Given the description of an element on the screen output the (x, y) to click on. 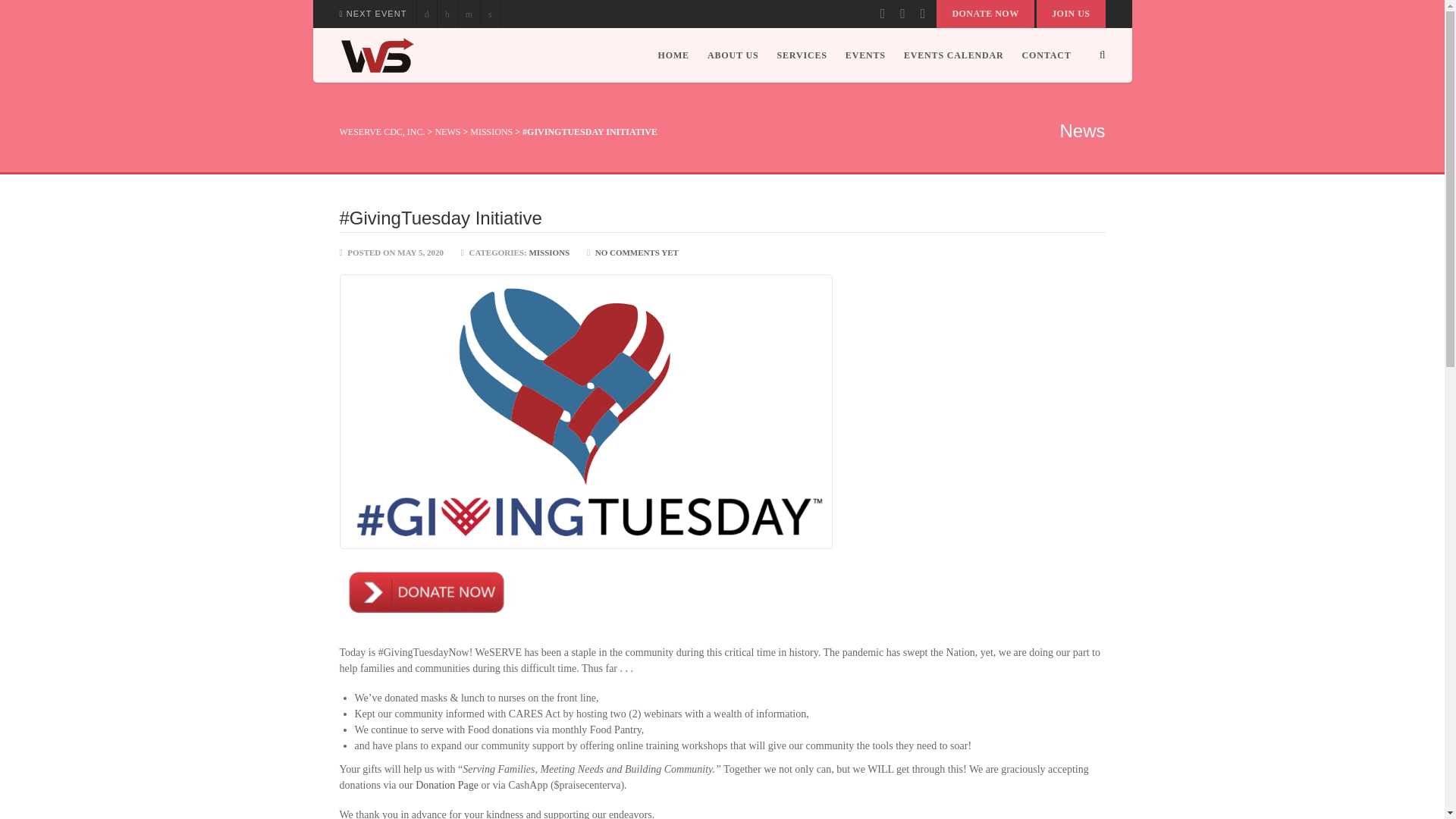
EVENTS (865, 54)
NO COMMENTS YET (636, 252)
CONTACT (1042, 54)
WeSERVE CDC, Inc. (376, 55)
MISSIONS (491, 131)
Go to News. (446, 131)
Donation Page (446, 785)
HOME (673, 54)
EVENTS CALENDAR (954, 54)
JOIN US (1070, 13)
